Given the description of an element on the screen output the (x, y) to click on. 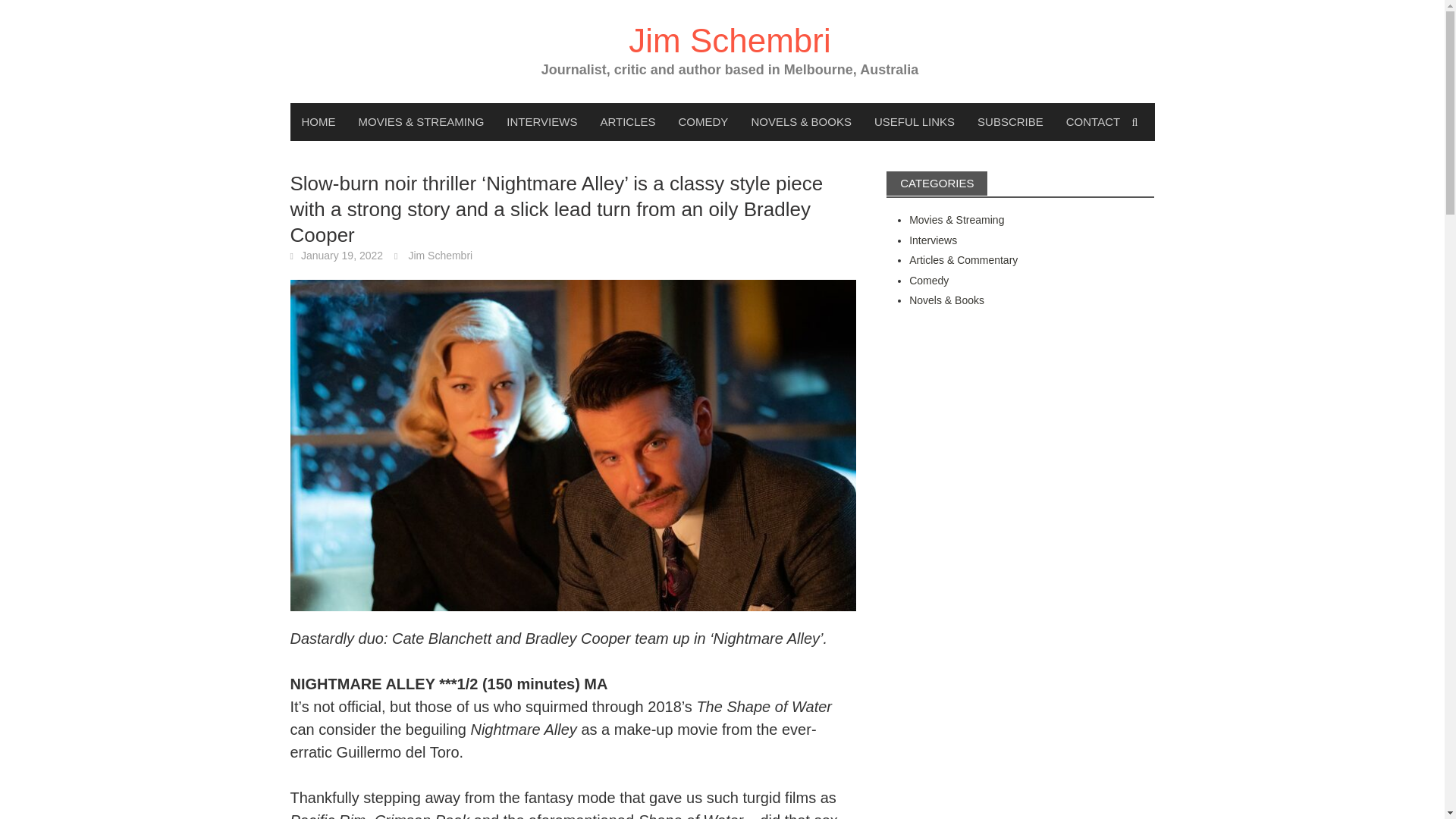
COMEDY (702, 121)
HOME (317, 121)
Interviews (932, 240)
January 19, 2022 (341, 255)
SUBSCRIBE (1010, 121)
Jim Schembri (729, 40)
INTERVIEWS (541, 121)
ARTICLES (627, 121)
USEFUL LINKS (914, 121)
Jim Schembri (439, 255)
